Given the description of an element on the screen output the (x, y) to click on. 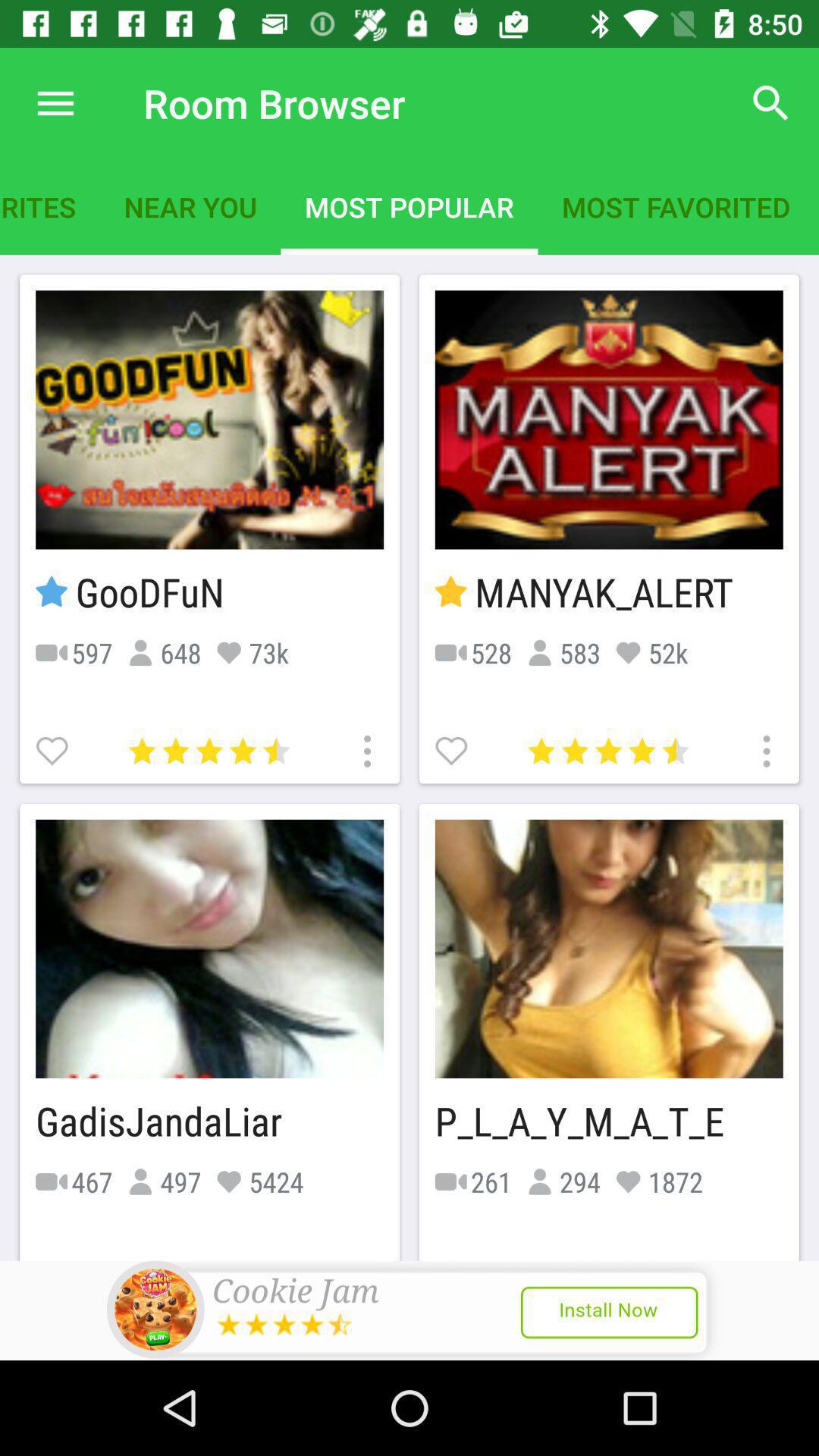
settings of the game (764, 749)
